Given the description of an element on the screen output the (x, y) to click on. 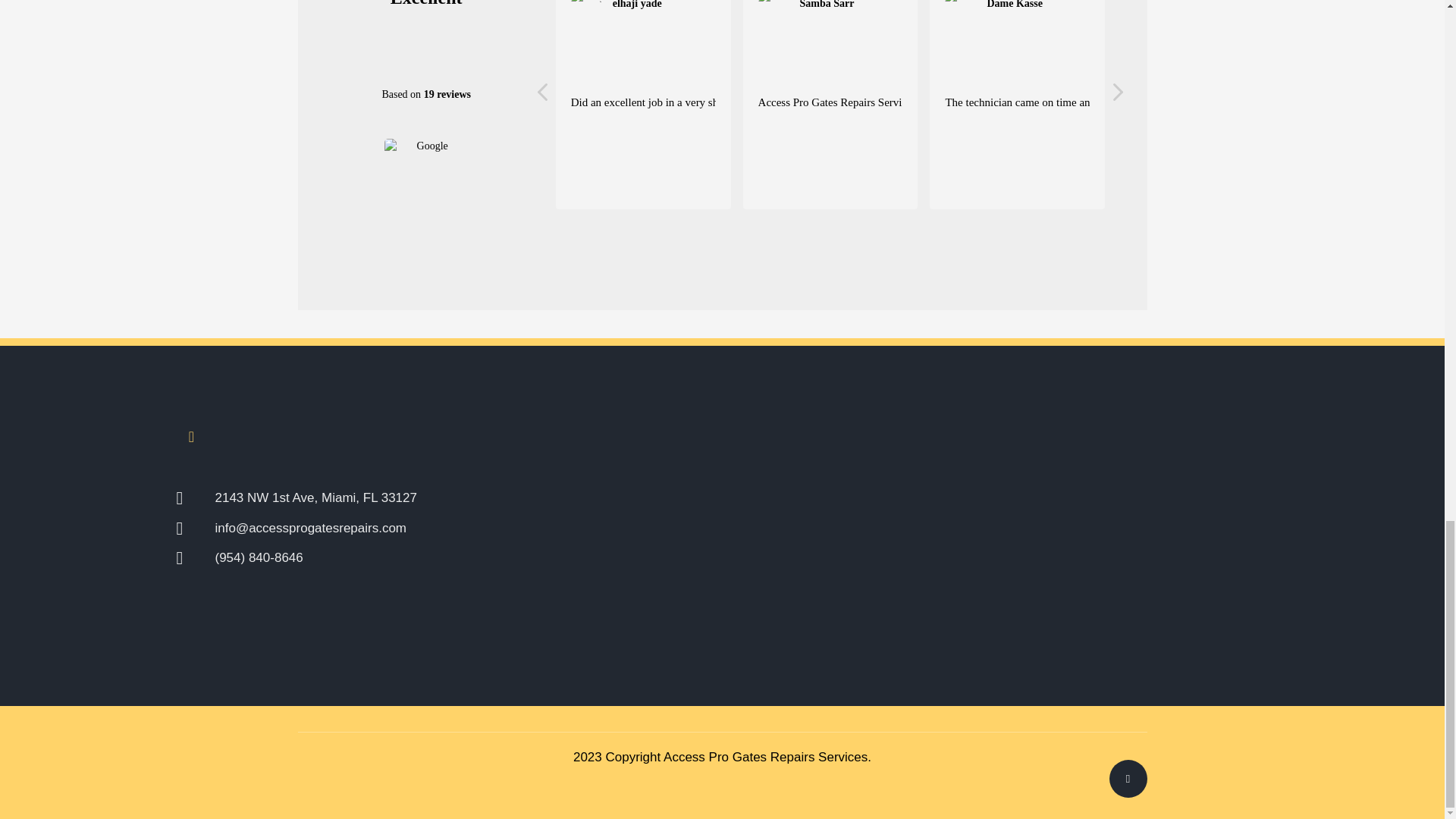
2143 NW 1st Ave, Miami, FL 33127 (408, 497)
Facebook (191, 436)
Access Pro Gates Repairs Services (765, 757)
